Given the description of an element on the screen output the (x, y) to click on. 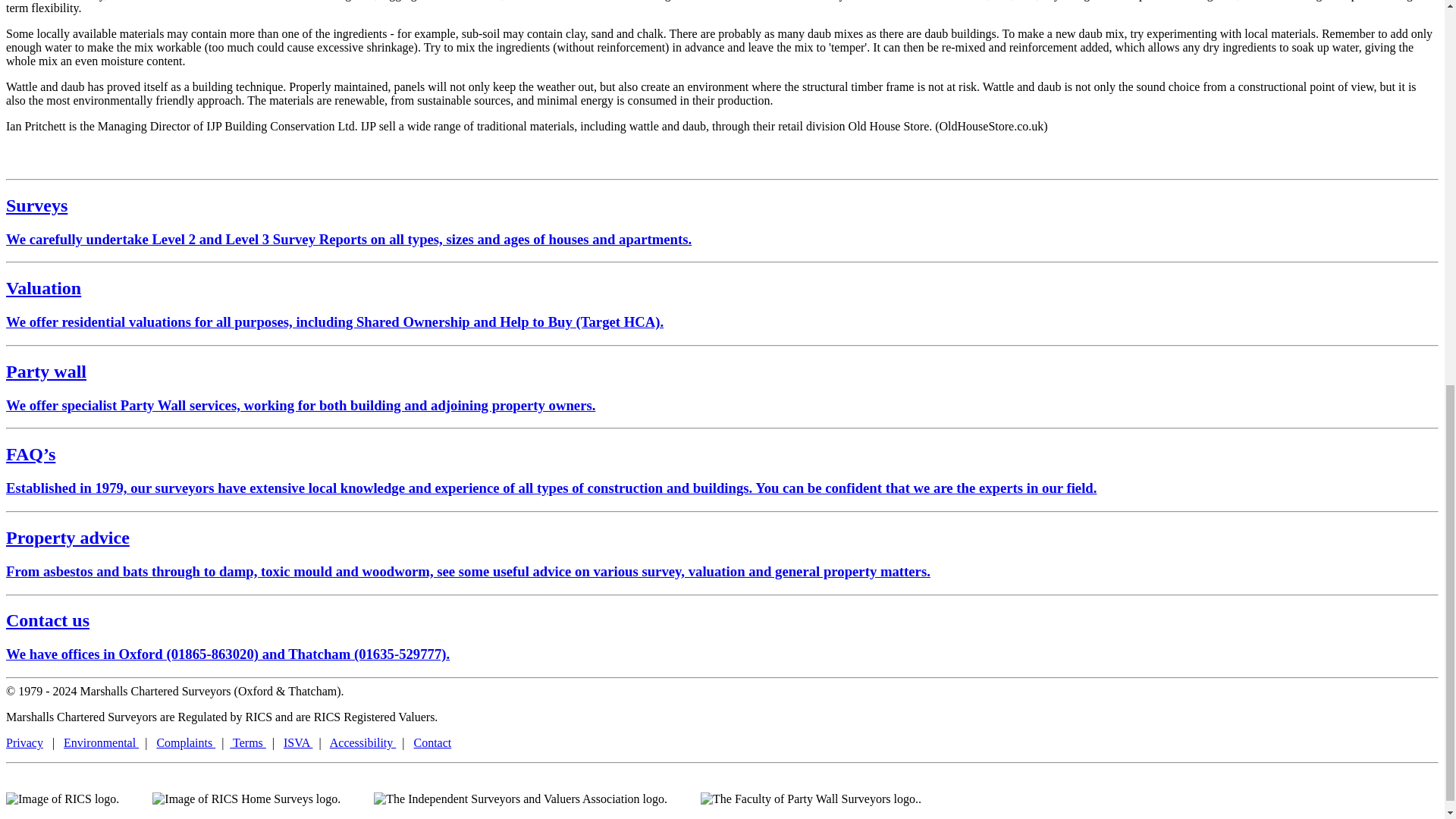
Hyperlink to the Marshalls Accessibility policy. (363, 742)
Contact (432, 742)
Hyperlink to the ISVA Charter. (298, 742)
Complaints (185, 742)
Environmental (101, 742)
Hyperlink to Marshalls Terms and Conditions. (247, 742)
Hyperlink to Marshalls Complaints Procedure. (185, 742)
Accessibility (363, 742)
Privacy (24, 742)
ISVA (298, 742)
